Given the description of an element on the screen output the (x, y) to click on. 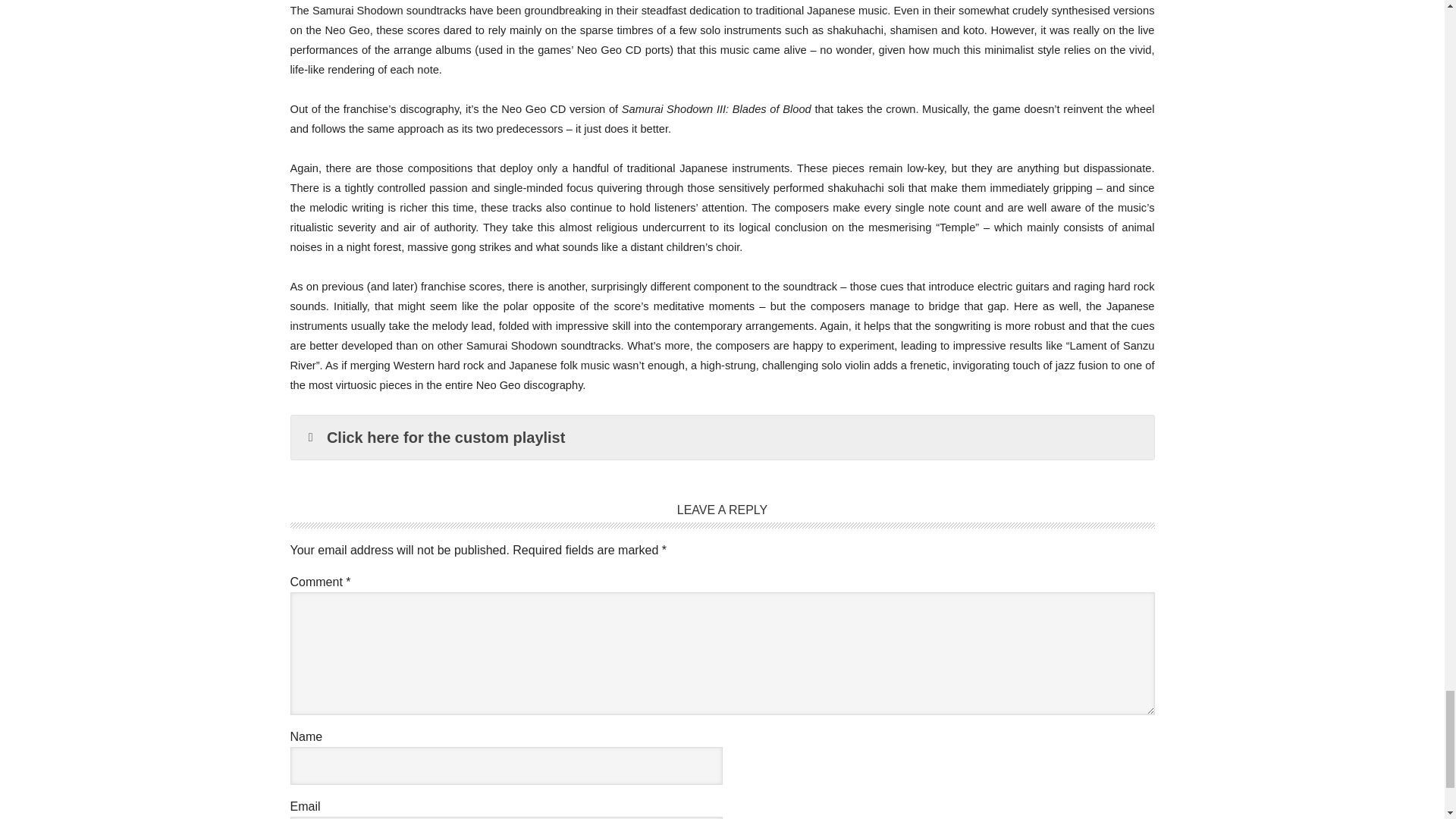
Click here for the custom playlist (722, 437)
